Given the description of an element on the screen output the (x, y) to click on. 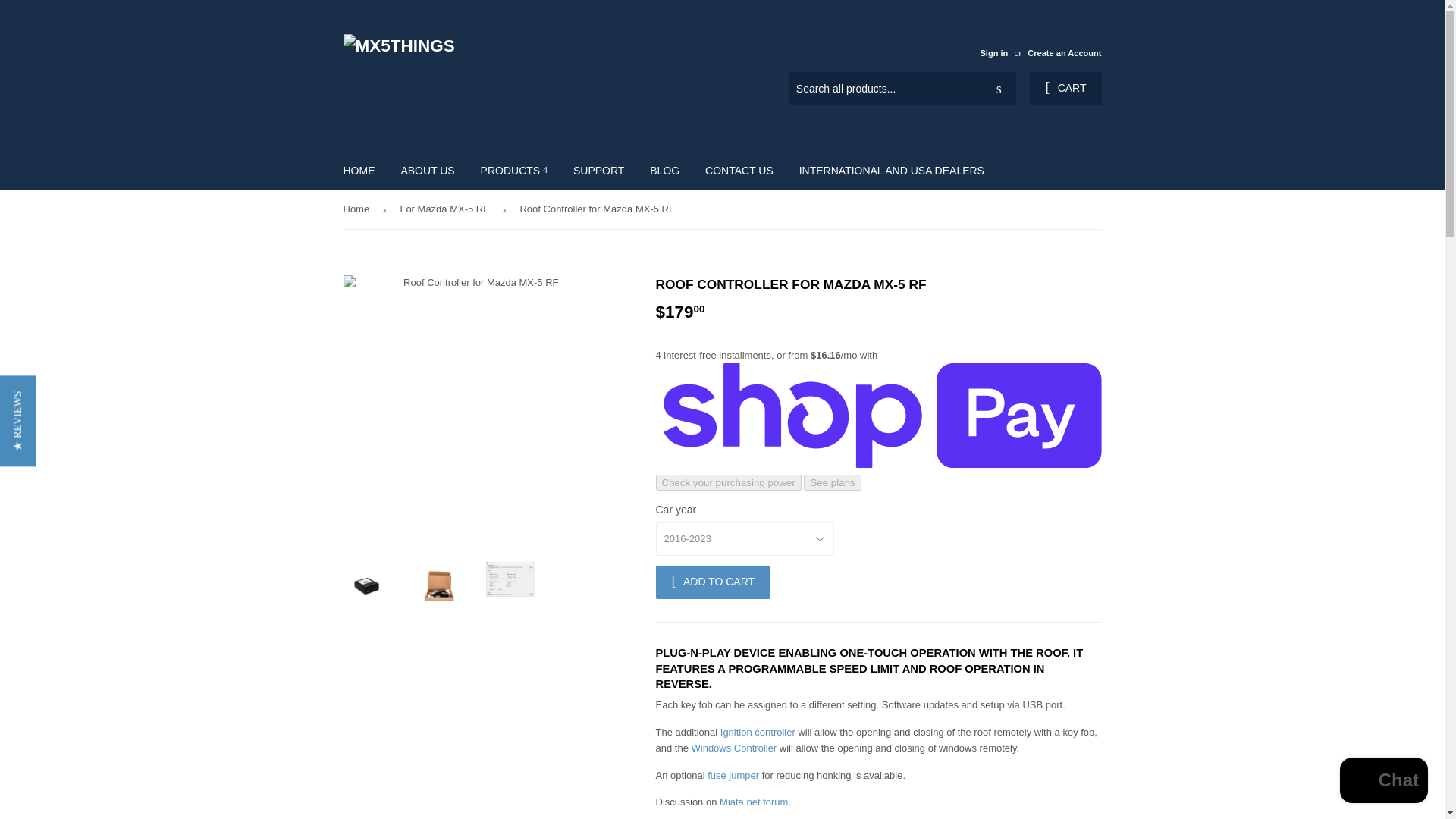
HOME (359, 170)
Search (998, 89)
CART (1064, 88)
Create an Account (1063, 52)
PRODUCTS (513, 170)
BLOG (664, 170)
For Mazda MX-5 RF (446, 209)
SUPPORT (598, 170)
CONTACT US (739, 170)
ABOUT US (426, 170)
